Given the description of an element on the screen output the (x, y) to click on. 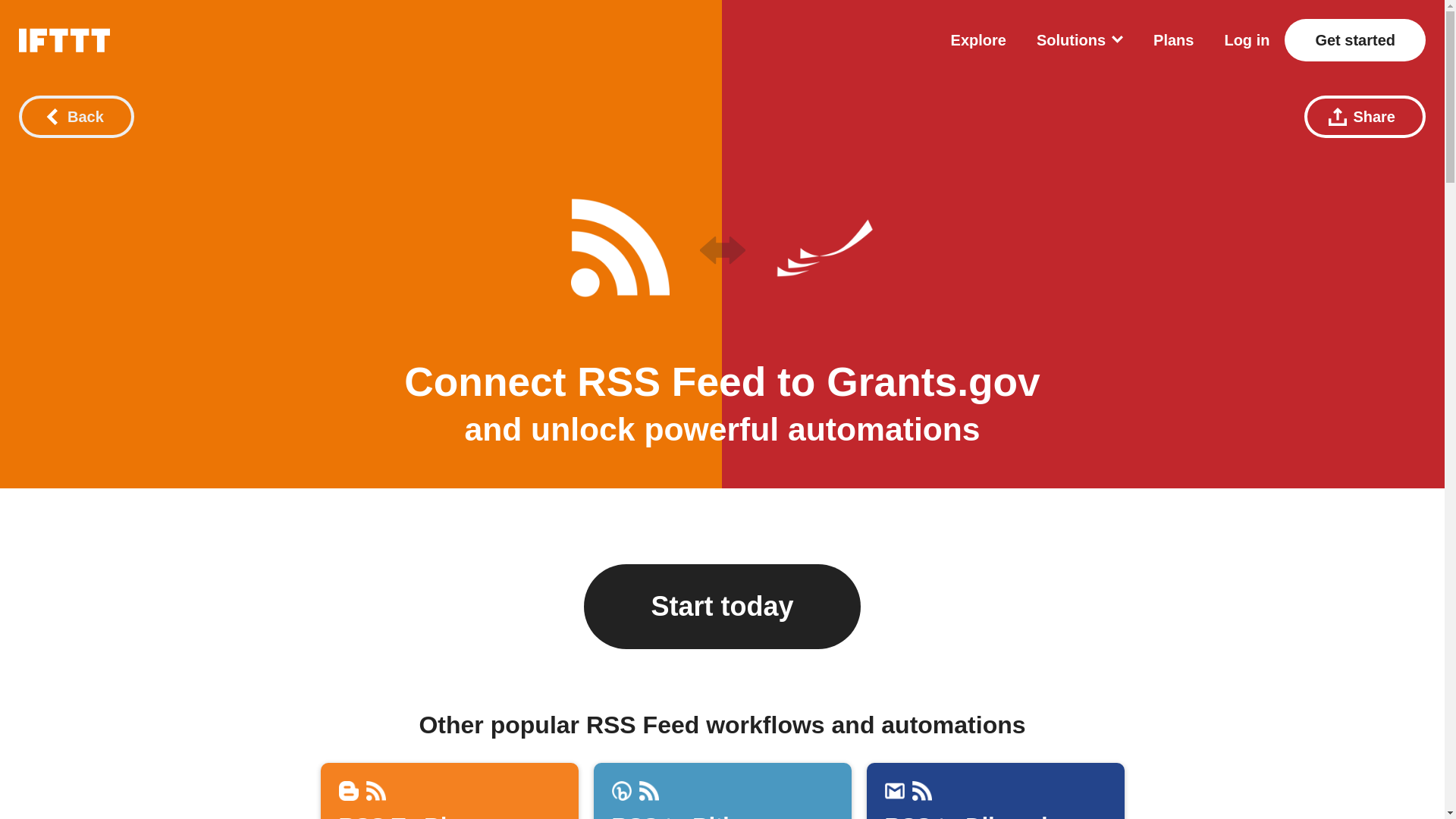
RSS Feed (670, 381)
RSS Feed (670, 381)
Grants.gov (934, 381)
Grants.gov (823, 248)
Bitly (620, 790)
Start today (721, 606)
Get started (1354, 39)
Grants.gov (449, 790)
Home (934, 381)
Get started (64, 40)
Explore (1354, 39)
Blogger (978, 39)
RSS Feed (347, 790)
Explore (375, 790)
